Given the description of an element on the screen output the (x, y) to click on. 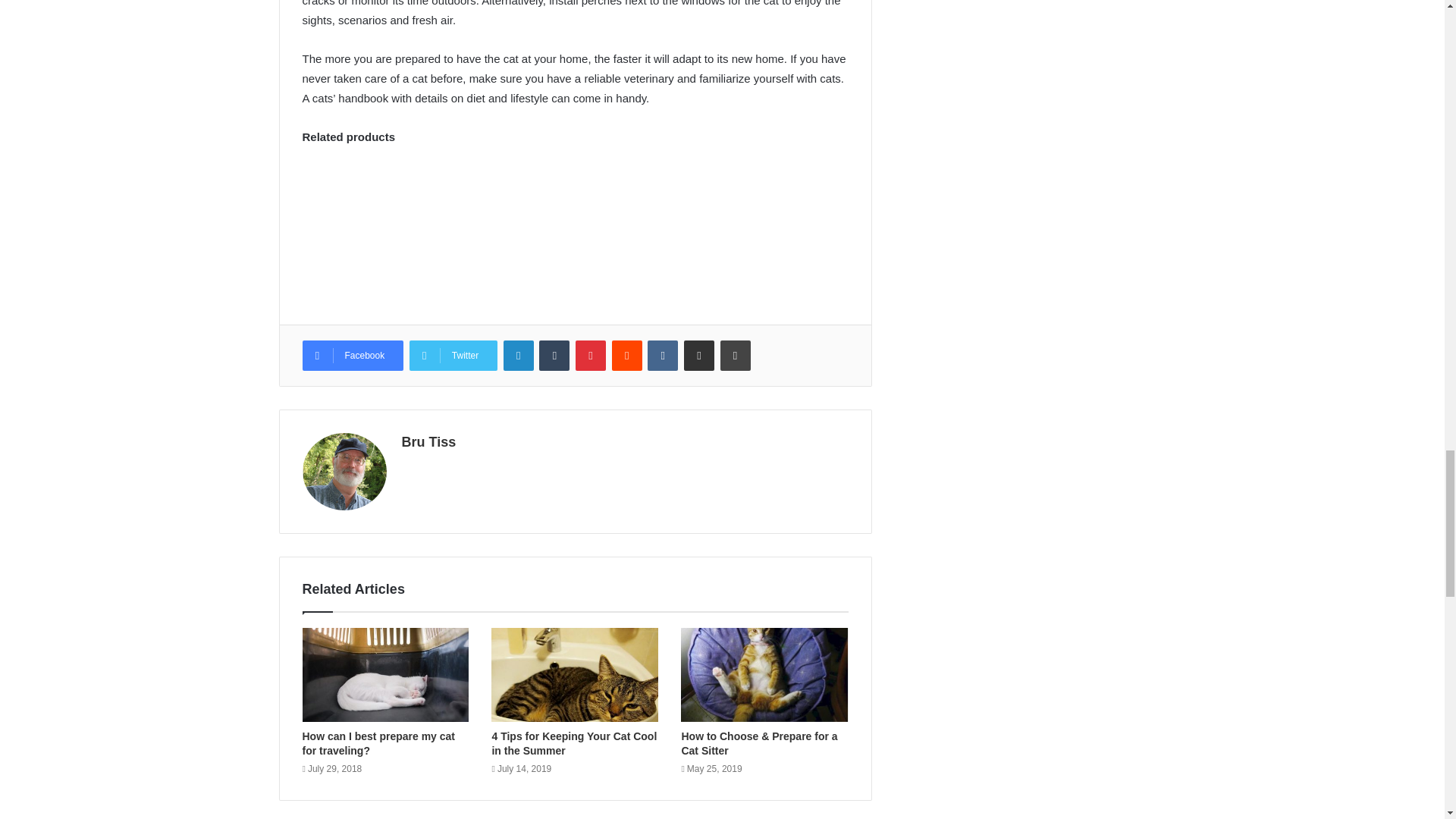
Facebook (352, 355)
Bru Tiss (429, 441)
Twitter (453, 355)
VKontakte (662, 355)
Print (735, 355)
Reddit (626, 355)
Tumblr (553, 355)
4 Tips for Keeping Your Cat Cool in the Summer (574, 743)
VKontakte (662, 355)
Facebook (352, 355)
Pinterest (590, 355)
Share via Email (699, 355)
Pinterest (590, 355)
Share via Email (699, 355)
LinkedIn (518, 355)
